Given the description of an element on the screen output the (x, y) to click on. 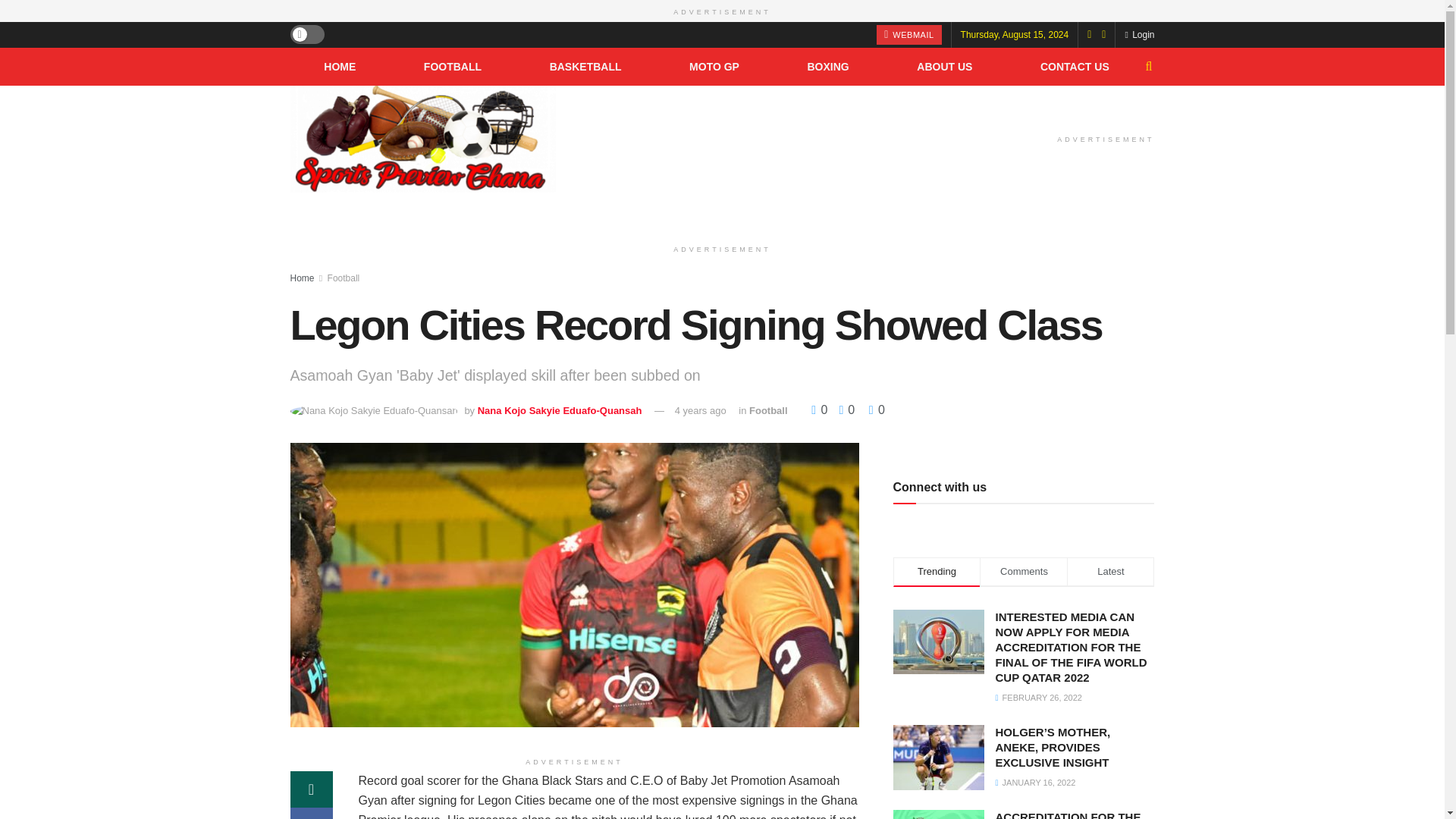
ABOUT US (945, 65)
HOME (339, 65)
Login (1139, 33)
0 (877, 409)
WEBMAIL (908, 34)
Nana Kojo Sakyie Eduafo-Quansah (559, 410)
0 (820, 409)
MOTO GP (714, 65)
4 years ago (700, 410)
Football (343, 277)
